Given the description of an element on the screen output the (x, y) to click on. 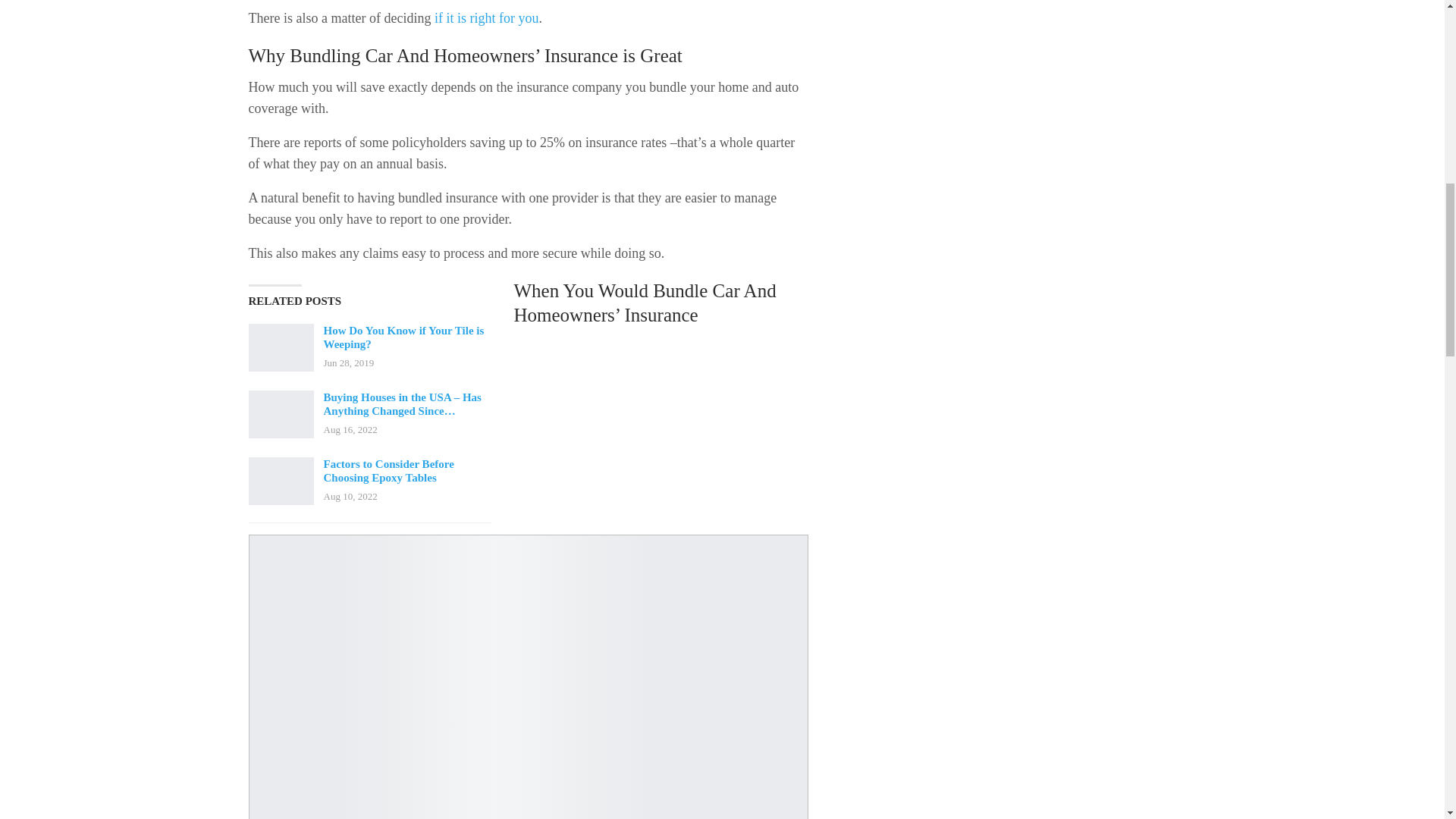
Factors to Consider Before Choosing Epoxy Tables (387, 470)
if it is right for you (485, 17)
How Do You Know if Your Tile is Weeping? (281, 347)
How Do You Know if Your Tile is Weeping? (403, 337)
Factors to Consider Before Choosing Epoxy Tables (281, 481)
